Given the description of an element on the screen output the (x, y) to click on. 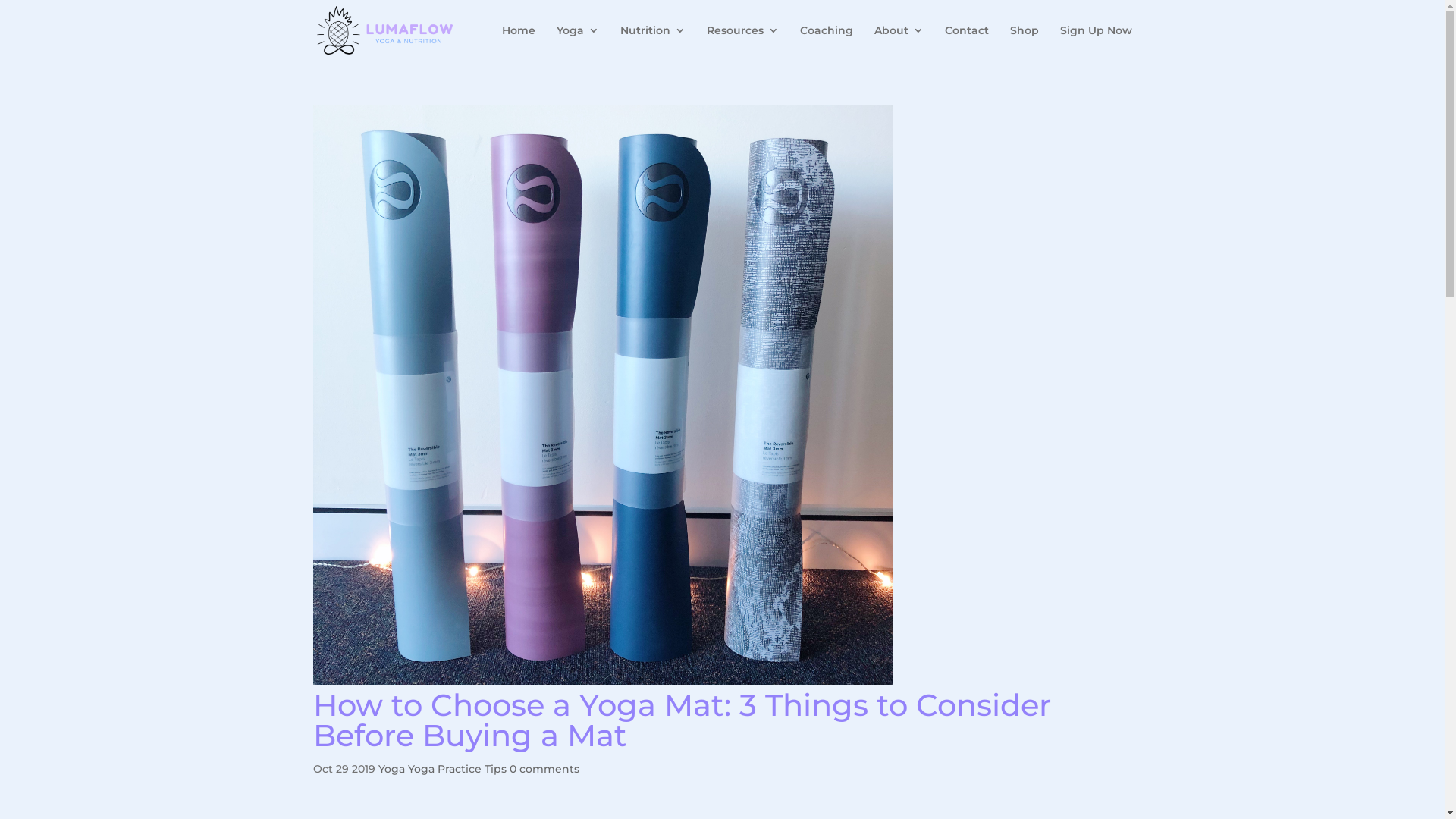
0 comments Element type: text (544, 768)
Home Element type: text (518, 42)
Coaching Element type: text (825, 42)
Shop Element type: text (1024, 42)
Yoga Element type: text (577, 42)
Yoga Practice Tips Element type: text (456, 768)
Contact Element type: text (966, 42)
About Element type: text (897, 42)
Nutrition Element type: text (652, 42)
Sign Up Now Element type: text (1096, 42)
Resources Element type: text (742, 42)
Yoga Element type: text (390, 768)
